Given the description of an element on the screen output the (x, y) to click on. 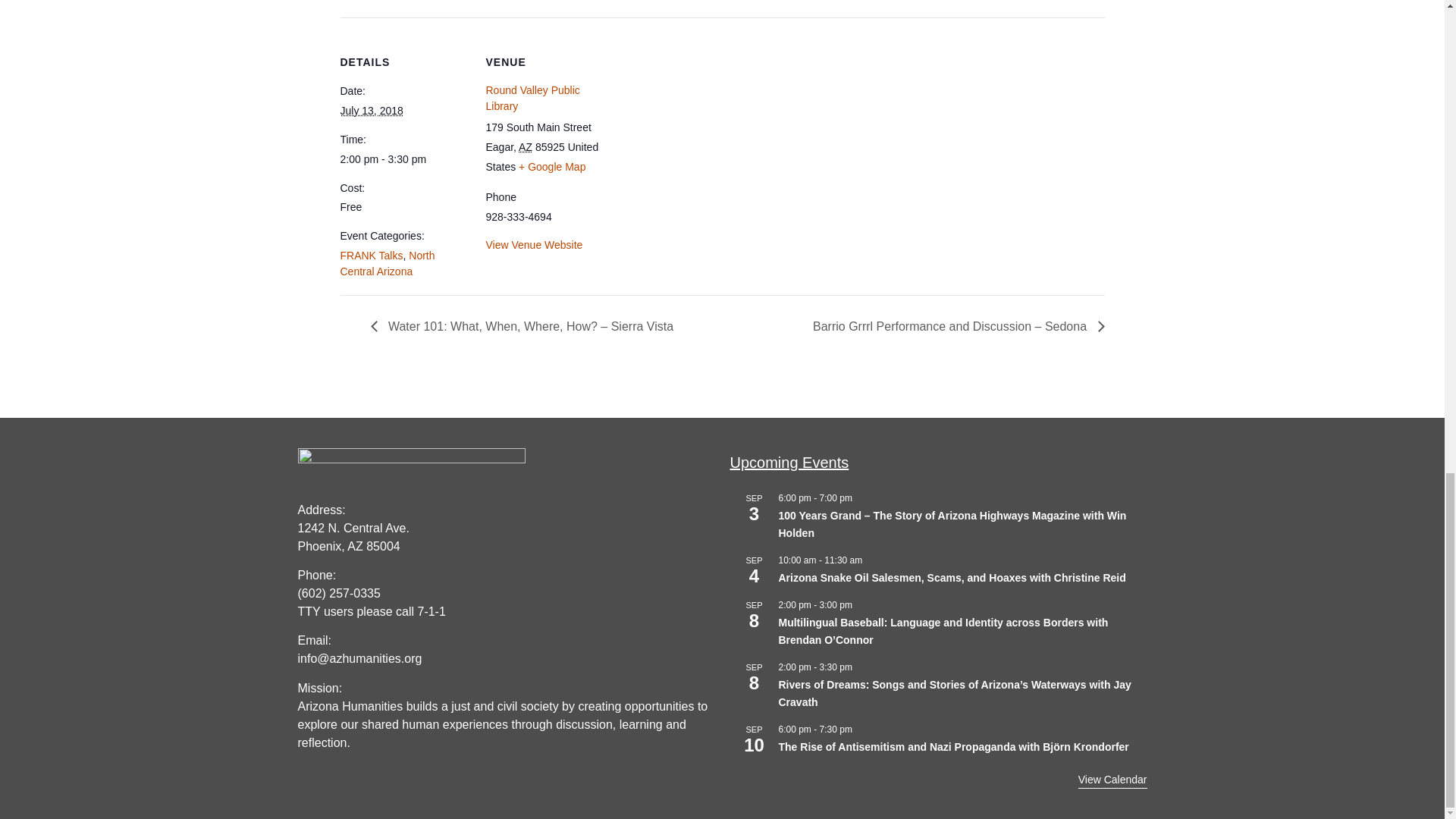
View more events. (1112, 780)
Arizona (525, 146)
Click to view a Google Map (551, 166)
2018-07-13 (403, 159)
2018-07-13 (371, 110)
